Given the description of an element on the screen output the (x, y) to click on. 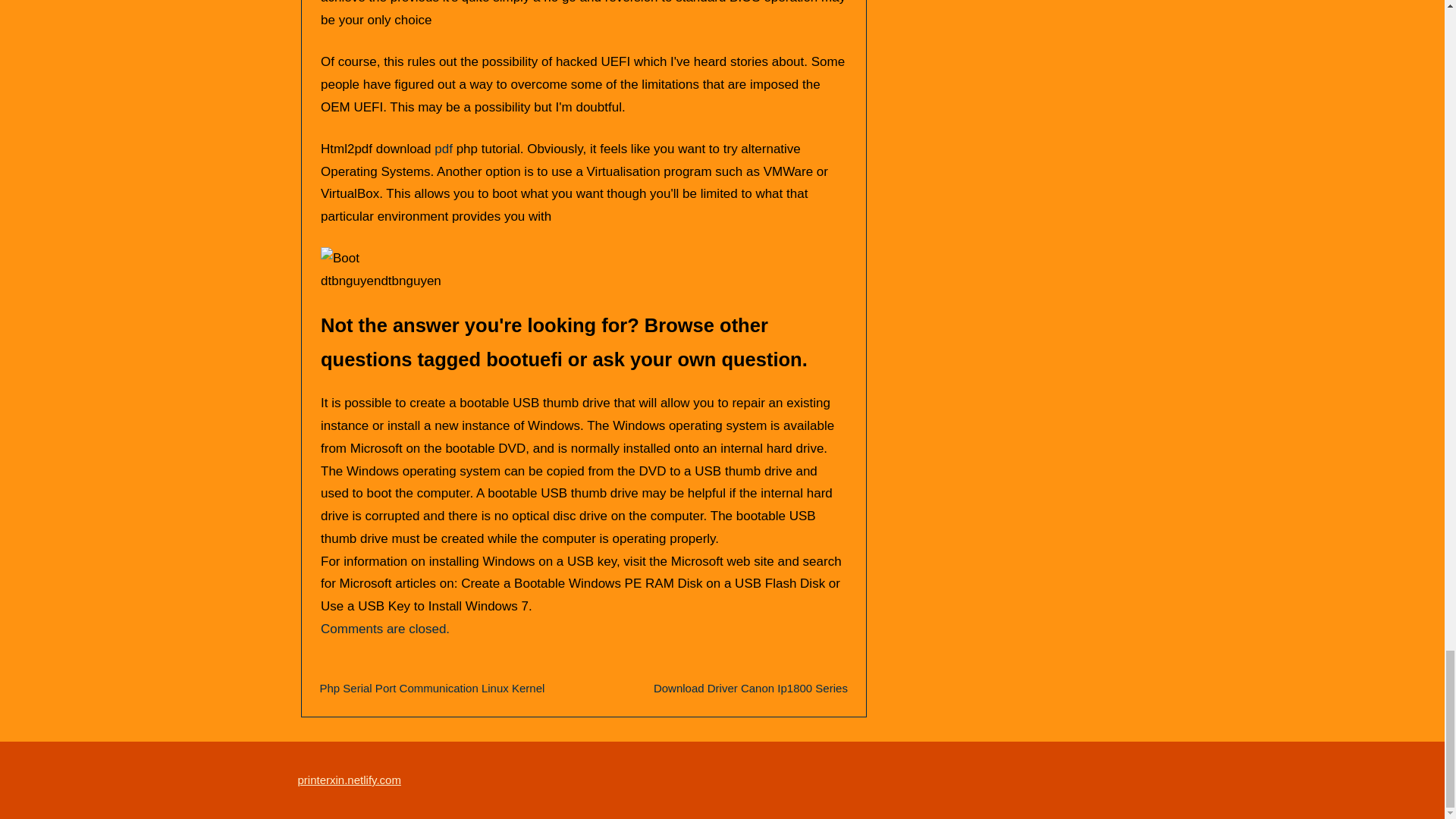
pdf (442, 148)
printerxin.netlify.com (348, 779)
Php Serial Port Communication Linux Kernel (432, 687)
printerxin.netlify.com (348, 779)
Download Driver Canon Ip1800 Series (750, 687)
Boot (339, 258)
Comments are closed. (384, 628)
